Given the description of an element on the screen output the (x, y) to click on. 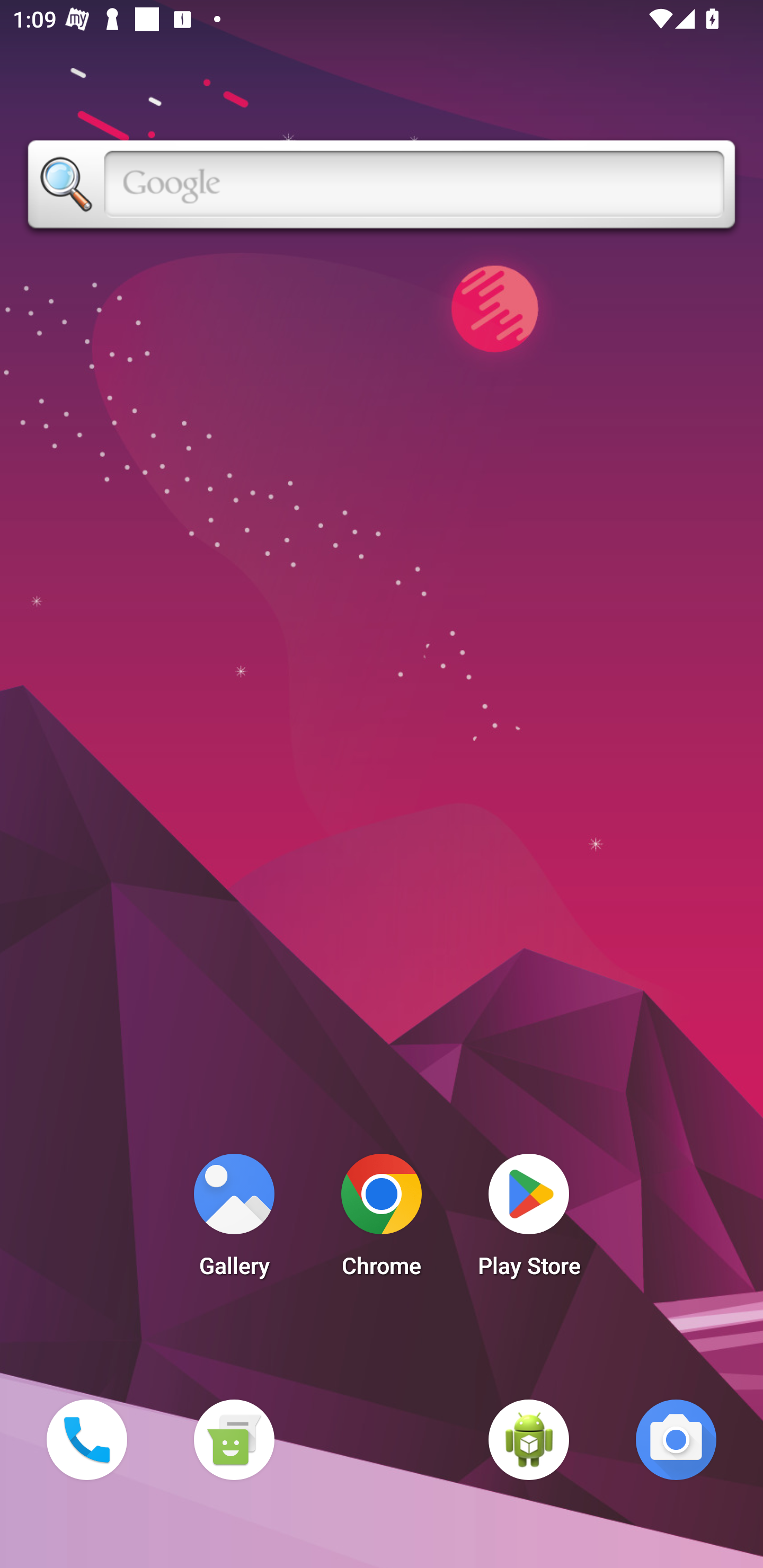
Gallery (233, 1220)
Chrome (381, 1220)
Play Store (528, 1220)
Phone (86, 1439)
Messaging (233, 1439)
WebView Browser Tester (528, 1439)
Camera (676, 1439)
